Given the description of an element on the screen output the (x, y) to click on. 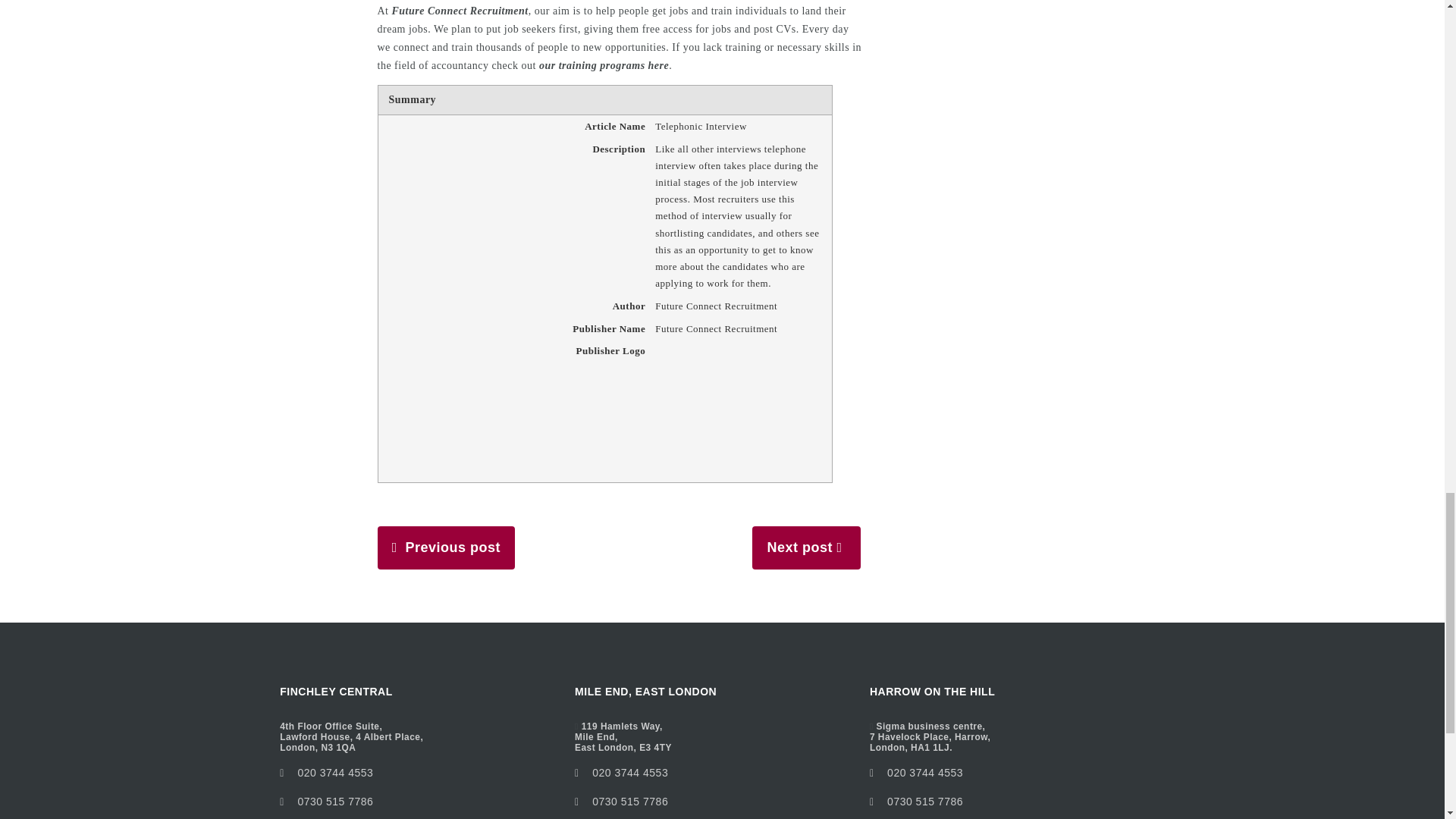
   0730 515 7786 (621, 801)
Previous post (452, 547)
Future Connect Recruitment (459, 10)
Next post (799, 547)
020 3744 4553 (630, 772)
   0730 515 7786 (623, 737)
our training programs here (325, 801)
020 3744 4553 (603, 65)
